Given the description of an element on the screen output the (x, y) to click on. 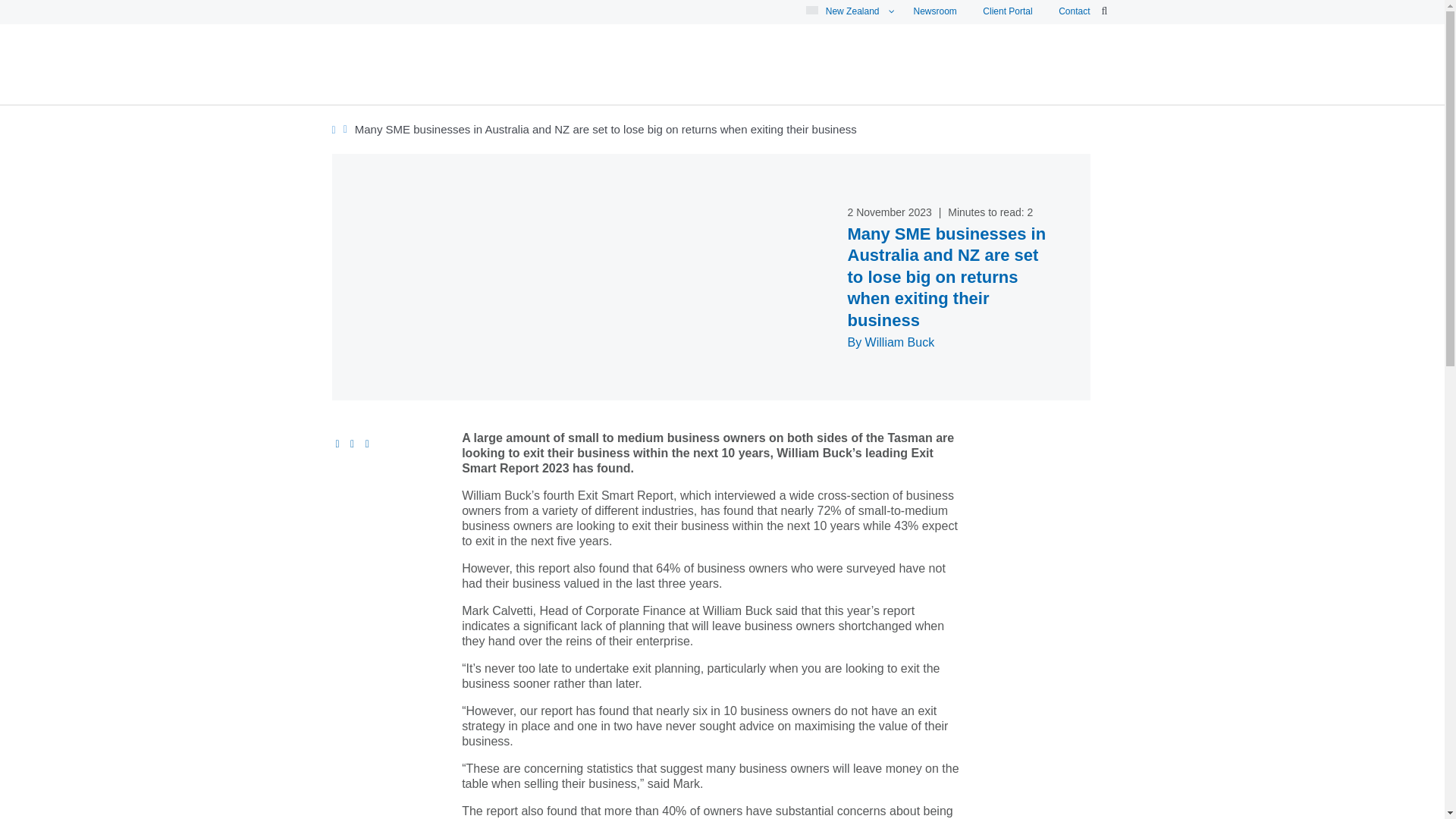
Client Portal (1007, 10)
WILLIAM BUCK NEW ZEALAND (562, 101)
Contact (1073, 10)
Newsroom (935, 10)
